Given the description of an element on the screen output the (x, y) to click on. 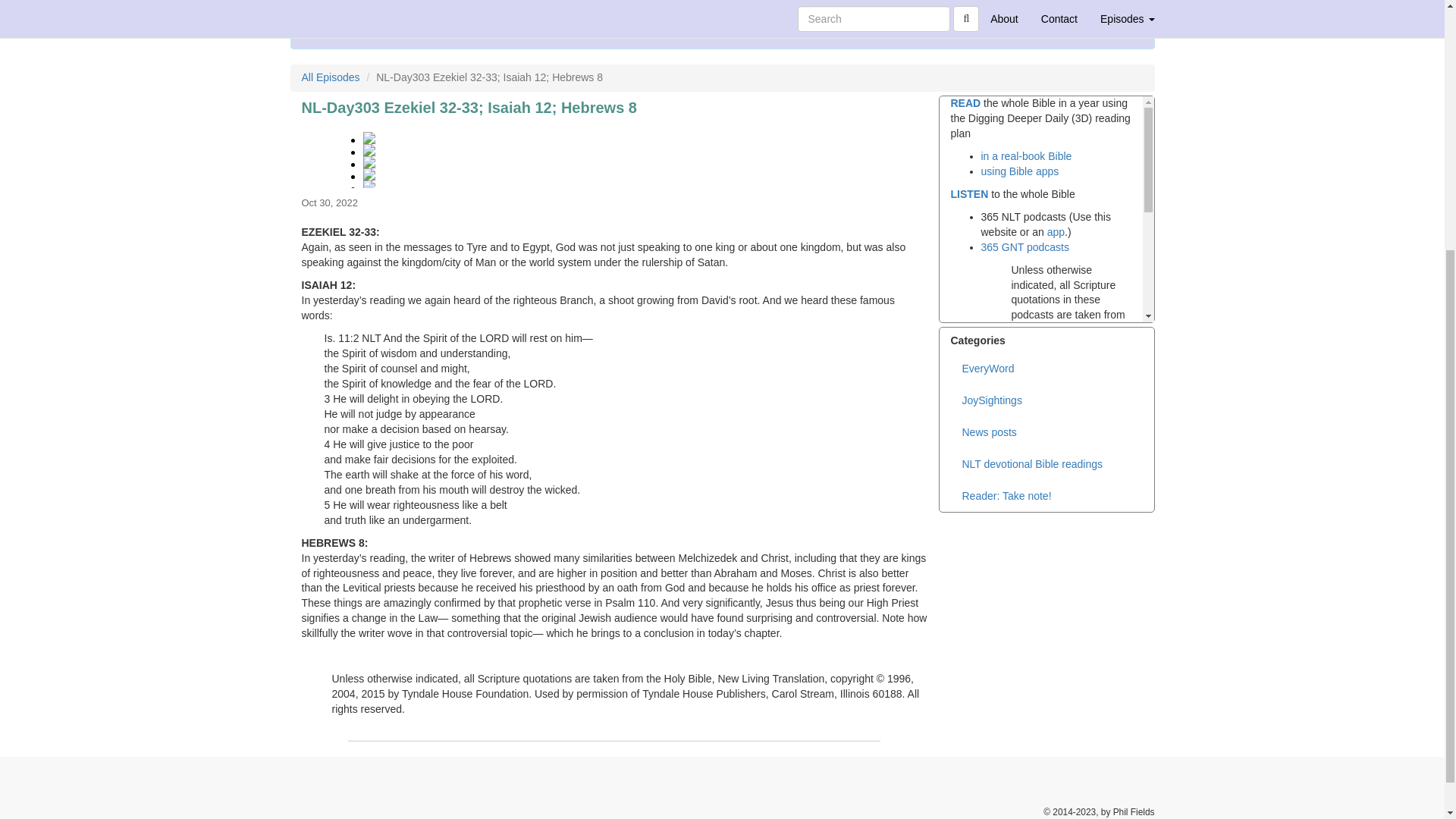
NL-Day303 Ezekiel 32-33; Isaiah 12; Hebrews 8 (614, 153)
Listen on Stitcher (769, 15)
Listen on Radio Public (843, 15)
Visit Us on Facebook (622, 15)
Listen on Apple Podcasts (732, 15)
Subscribe to RSS Feed (660, 15)
Listen on Spotify (805, 15)
Listen on Deezer (695, 15)
